Given the description of an element on the screen output the (x, y) to click on. 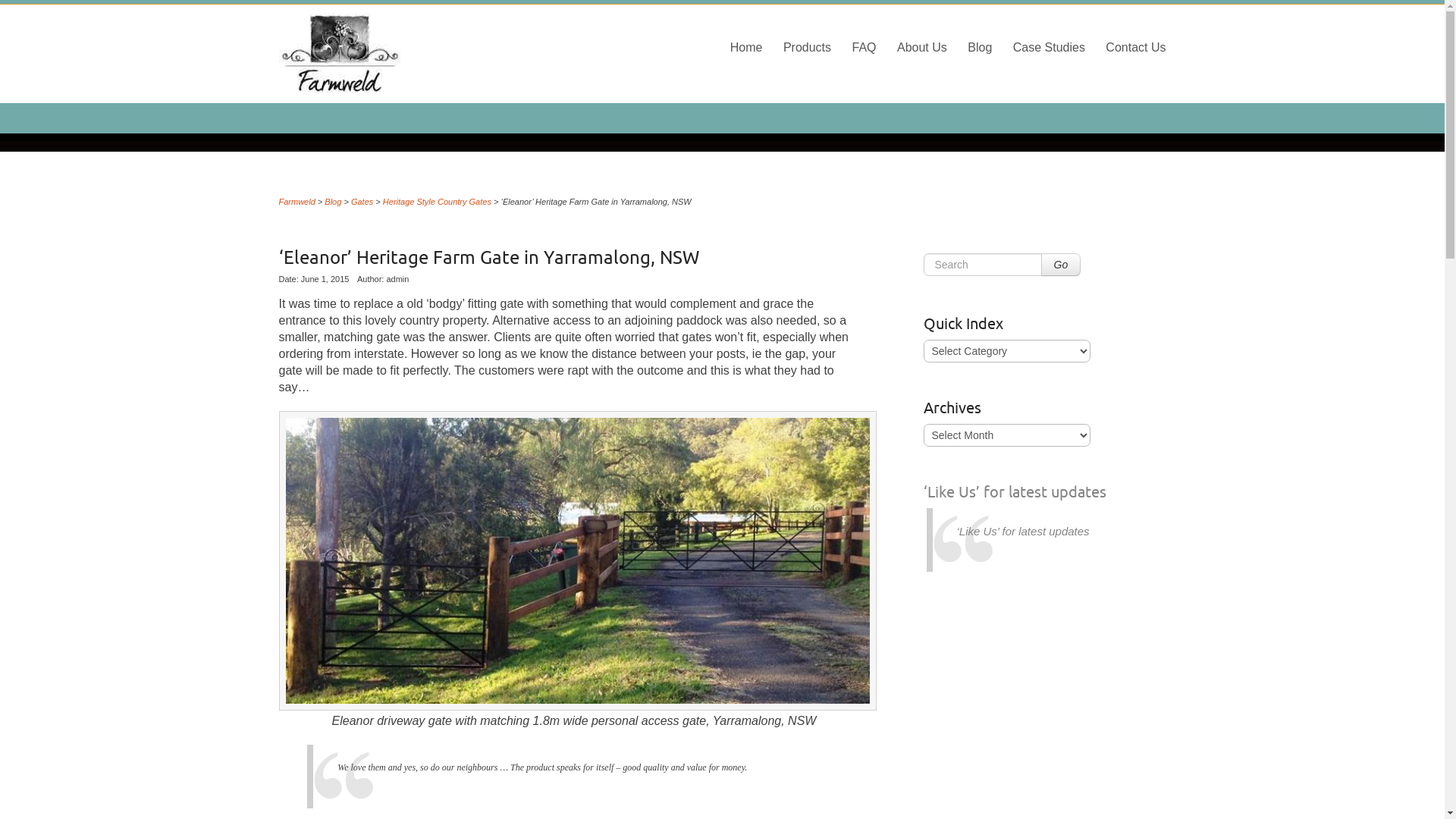
Case Studies Element type: text (1049, 47)
Blog Element type: text (332, 201)
About Us Element type: text (922, 47)
Gates Element type: text (362, 201)
Contact Us Element type: text (1135, 47)
FAQ Element type: text (864, 47)
Go Element type: text (1060, 264)
Heritage Style Country Gates Element type: text (436, 201)
Blog Element type: text (979, 47)
Farmweld Element type: text (297, 201)
Farmweld Element type: hover (419, 53)
Products Element type: text (807, 47)
Home Element type: text (746, 47)
